Given the description of an element on the screen output the (x, y) to click on. 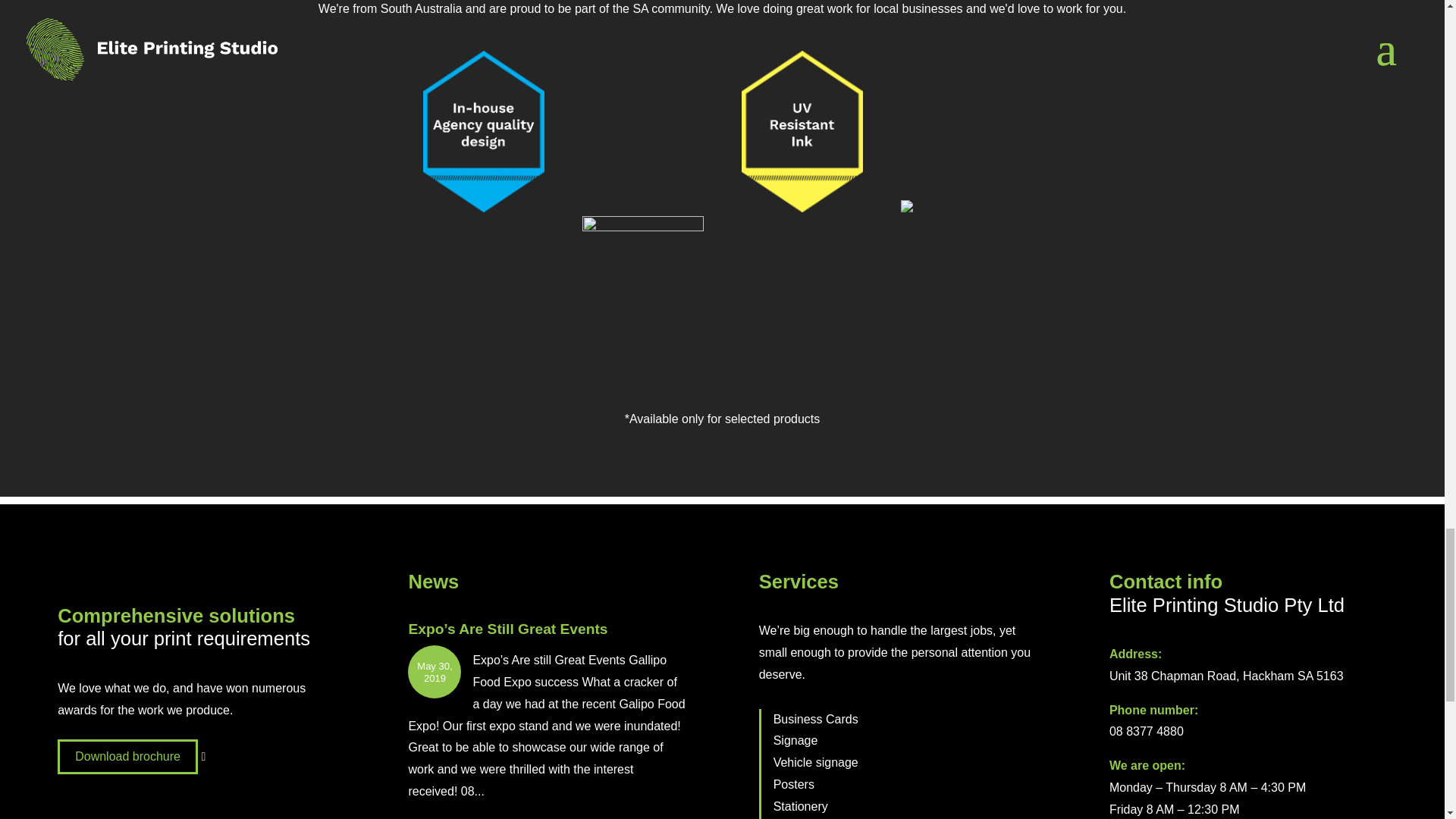
Stationery (800, 806)
Download brochure (128, 756)
08 8377 4880 (1146, 730)
Signage (795, 739)
Business Cards (816, 718)
Posters (793, 784)
Vehicle signage (816, 762)
